Given the description of an element on the screen output the (x, y) to click on. 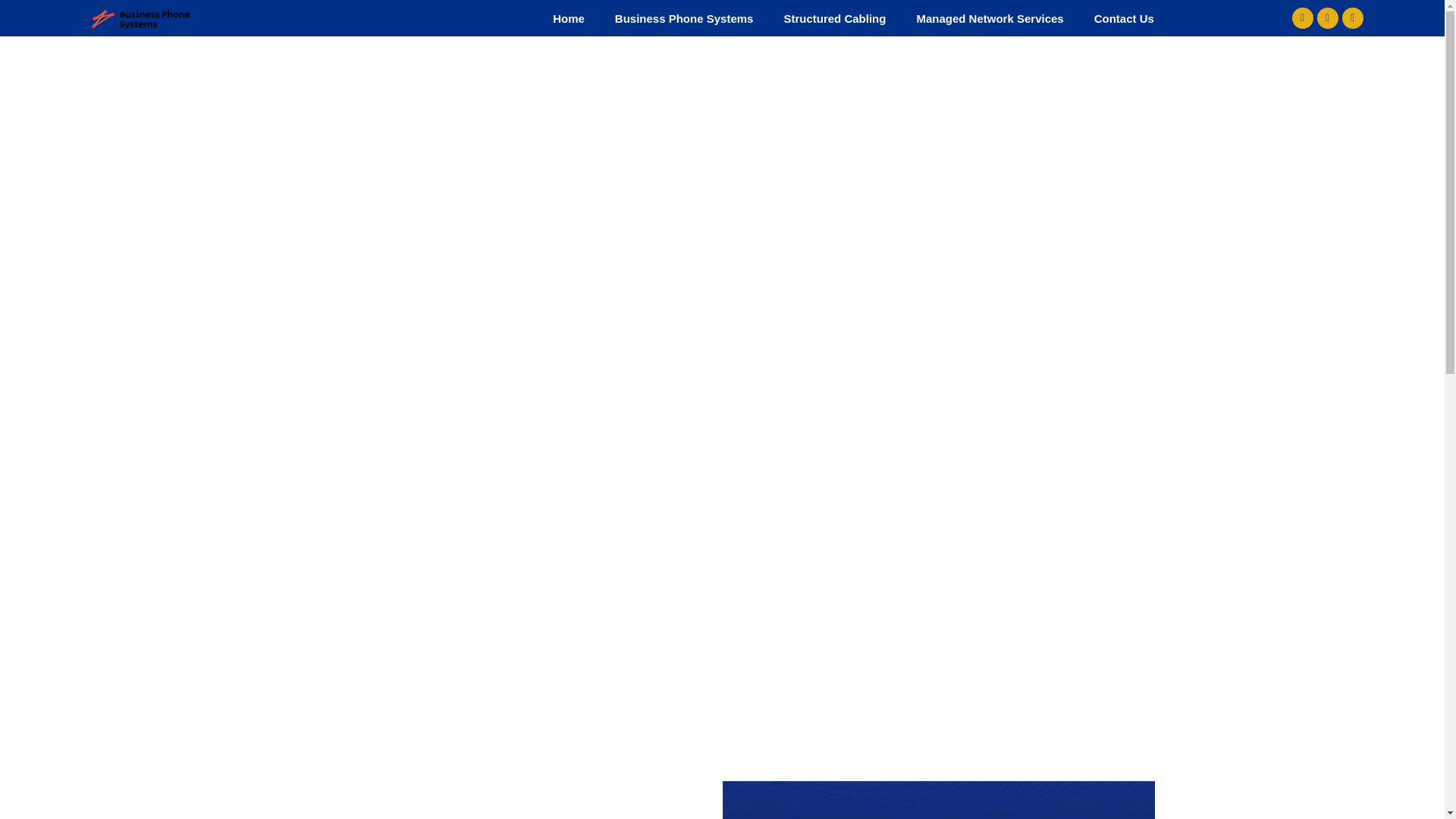
Structured Cabling (834, 18)
Home (568, 18)
Contact Us (1123, 18)
Managed Network Services (989, 18)
Business Phone Systems (683, 18)
